Given the description of an element on the screen output the (x, y) to click on. 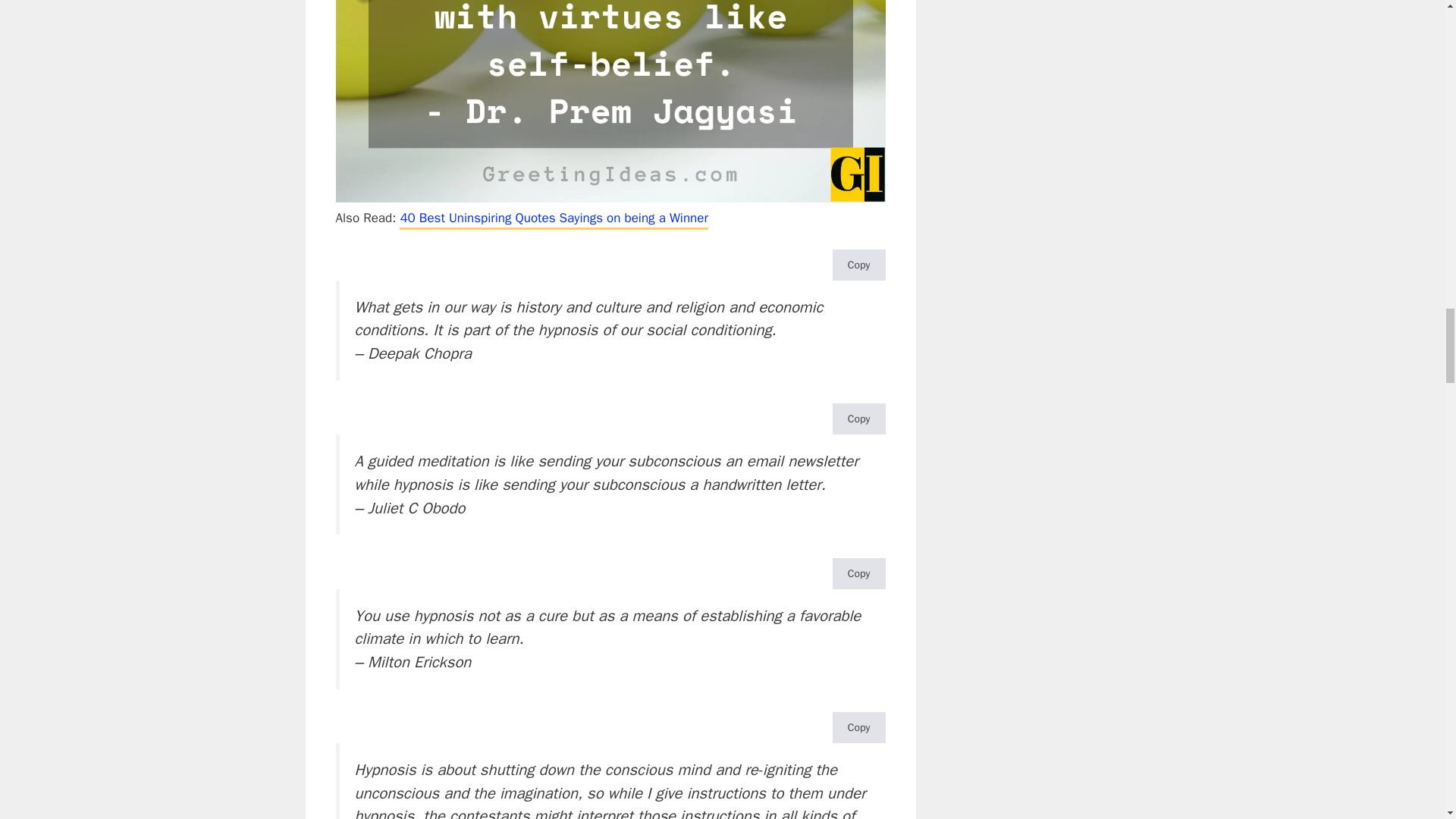
Copy (858, 726)
Copy (858, 572)
40 Best Uninspiring Quotes Sayings on being a Winner (552, 219)
Copy (858, 264)
Copy (858, 418)
